Given the description of an element on the screen output the (x, y) to click on. 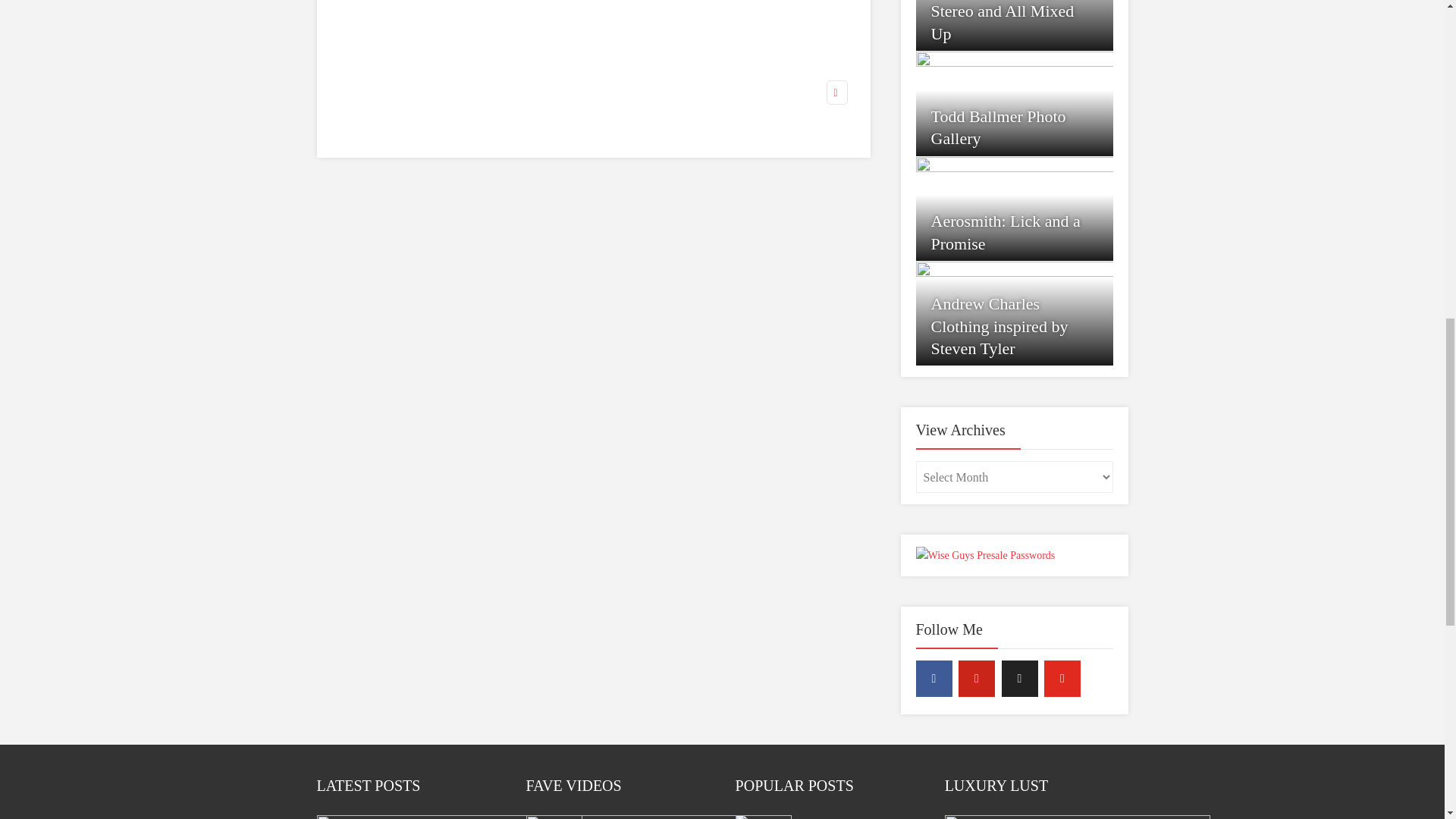
Pinterest (976, 678)
Facebook (933, 678)
YouTube (1061, 678)
